Given the description of an element on the screen output the (x, y) to click on. 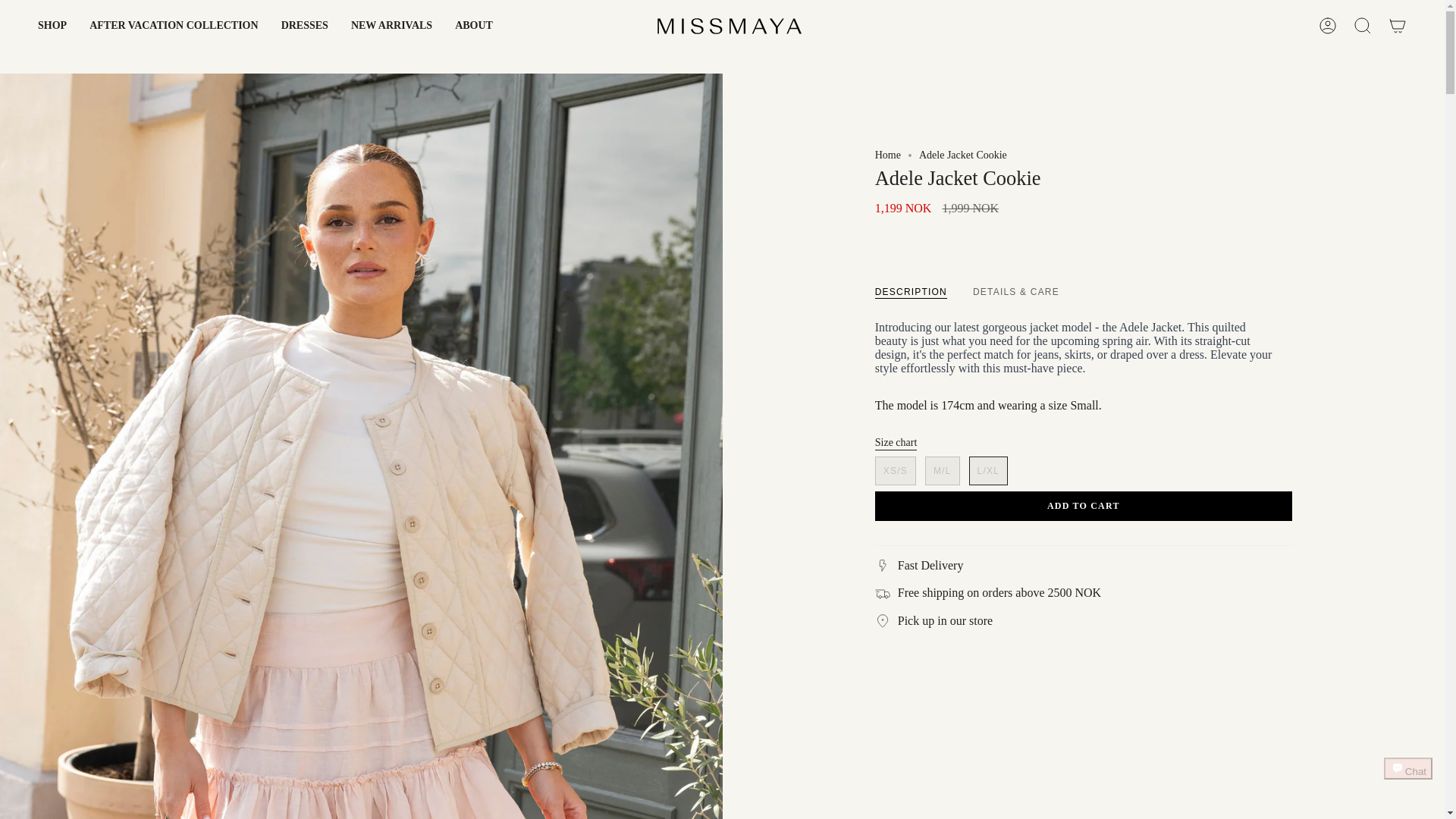
Shopify online store chat (1408, 781)
DRESSES (304, 26)
Account (1327, 25)
AFTER VACATION COLLECTION (173, 26)
NEW ARRIVALS (391, 26)
ABOUT (473, 26)
Cart (1397, 25)
My Account (1327, 25)
SHOP (52, 26)
Search (1362, 25)
